Given the description of an element on the screen output the (x, y) to click on. 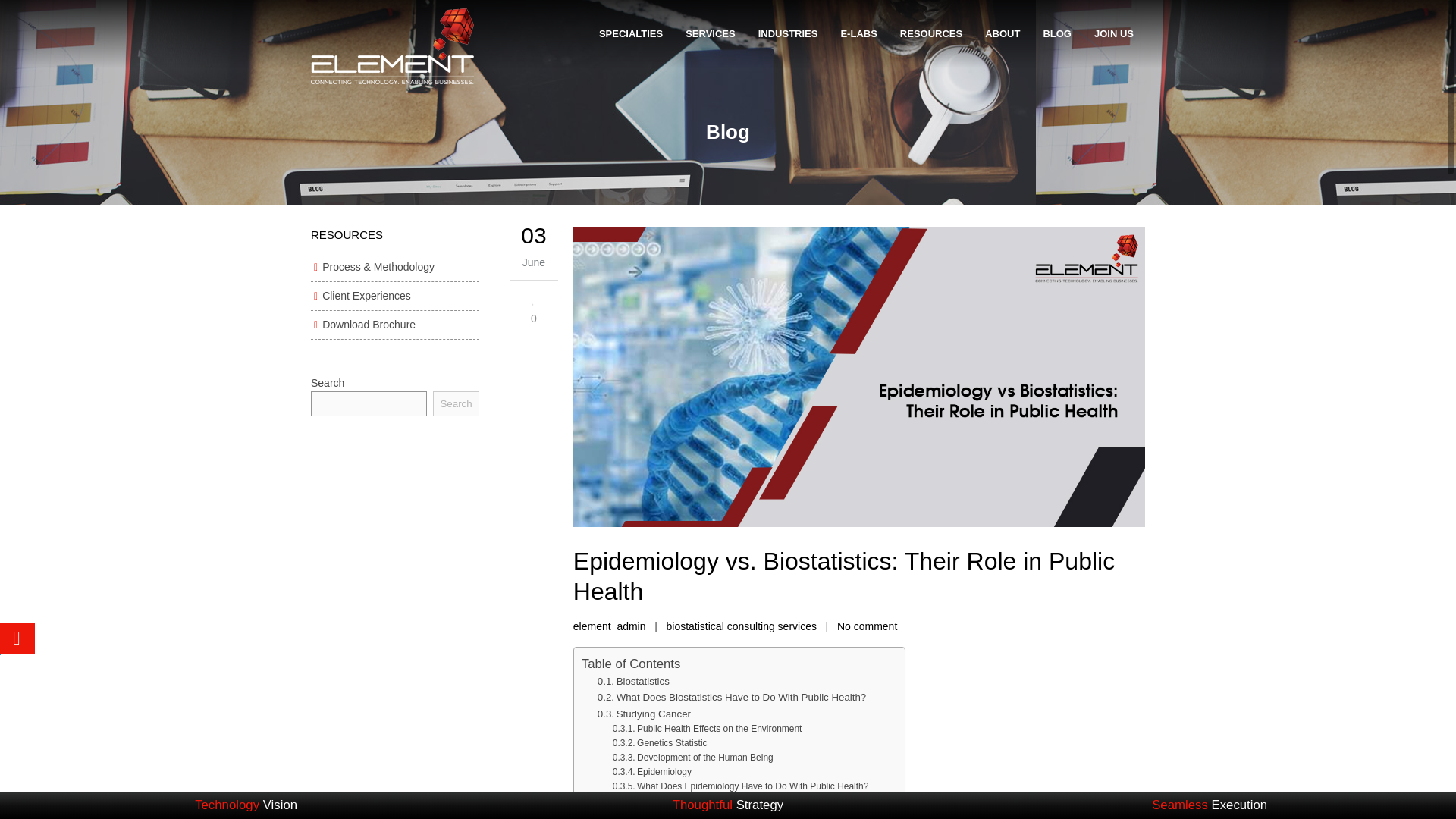
Biostatistics (632, 681)
SERVICES (710, 33)
Studying Cancer (643, 713)
Genetics Statistic (659, 743)
What Does Epidemiology Have to Do With Public Health? (740, 786)
Diseases spread by food and water (704, 800)
SPECIALTIES (631, 33)
Infections that are caused by viruses (706, 813)
Public Health Effects on the Environment (707, 728)
What Does Biostatistics Have to Do With Public Health? (731, 697)
Like this (533, 307)
Epidemiology (651, 771)
